Given the description of an element on the screen output the (x, y) to click on. 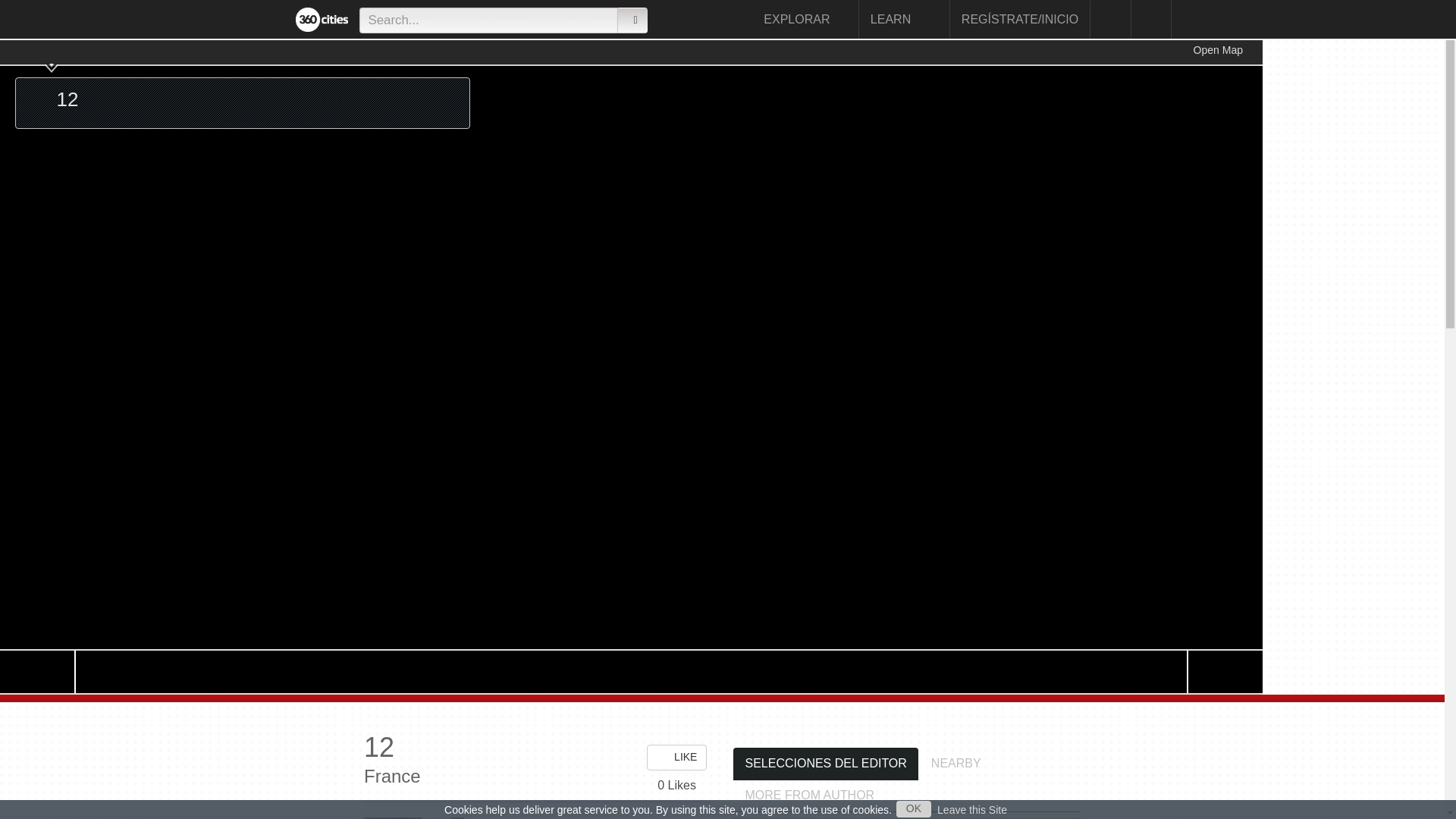
EXPLORAR (805, 19)
LEARN (904, 19)
Advertisement (1338, 266)
